Given the description of an element on the screen output the (x, y) to click on. 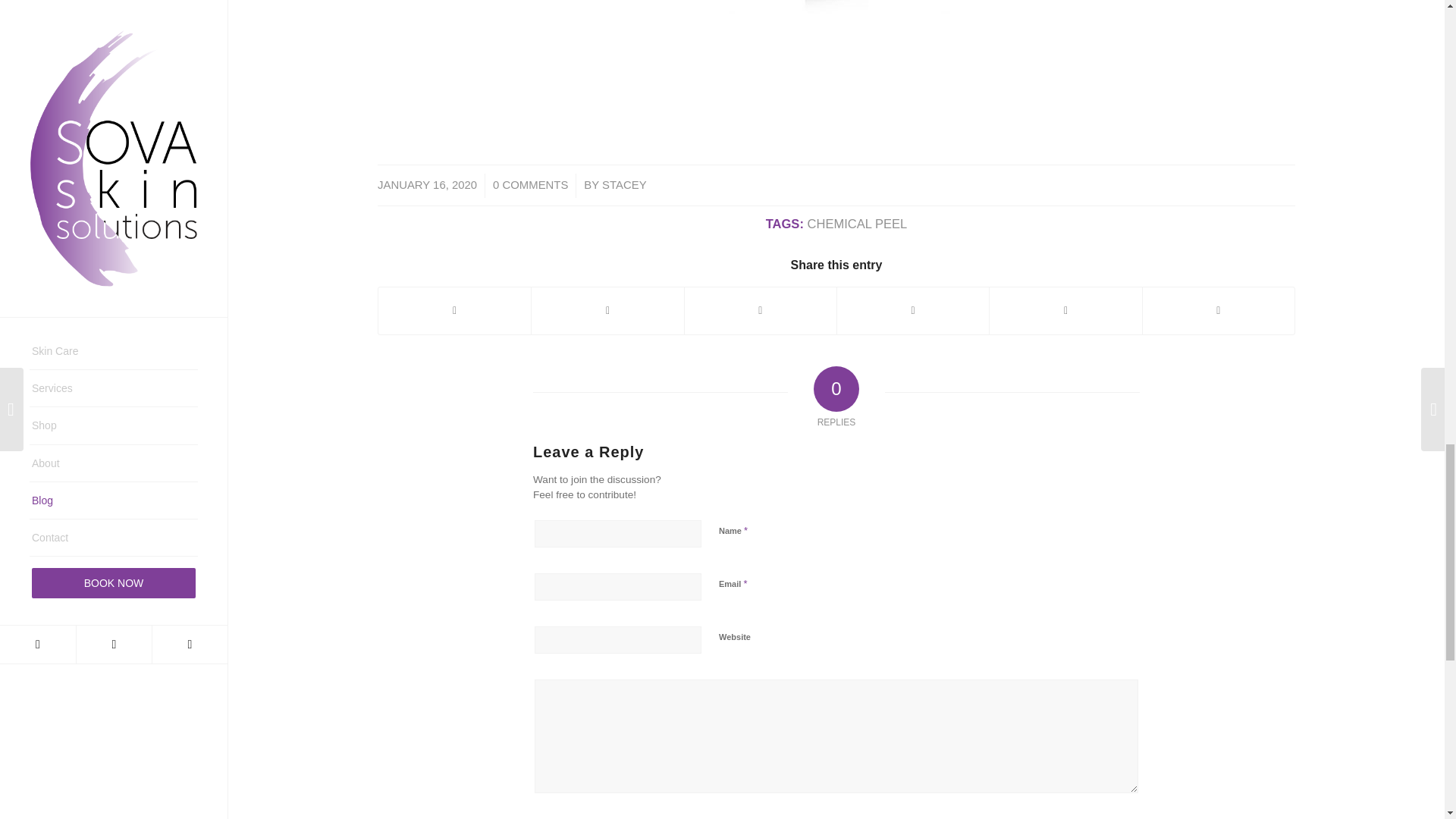
STACEY (624, 184)
Posts by stacey (624, 184)
0 COMMENTS (530, 184)
CHEMICAL PEEL (857, 223)
